Given the description of an element on the screen output the (x, y) to click on. 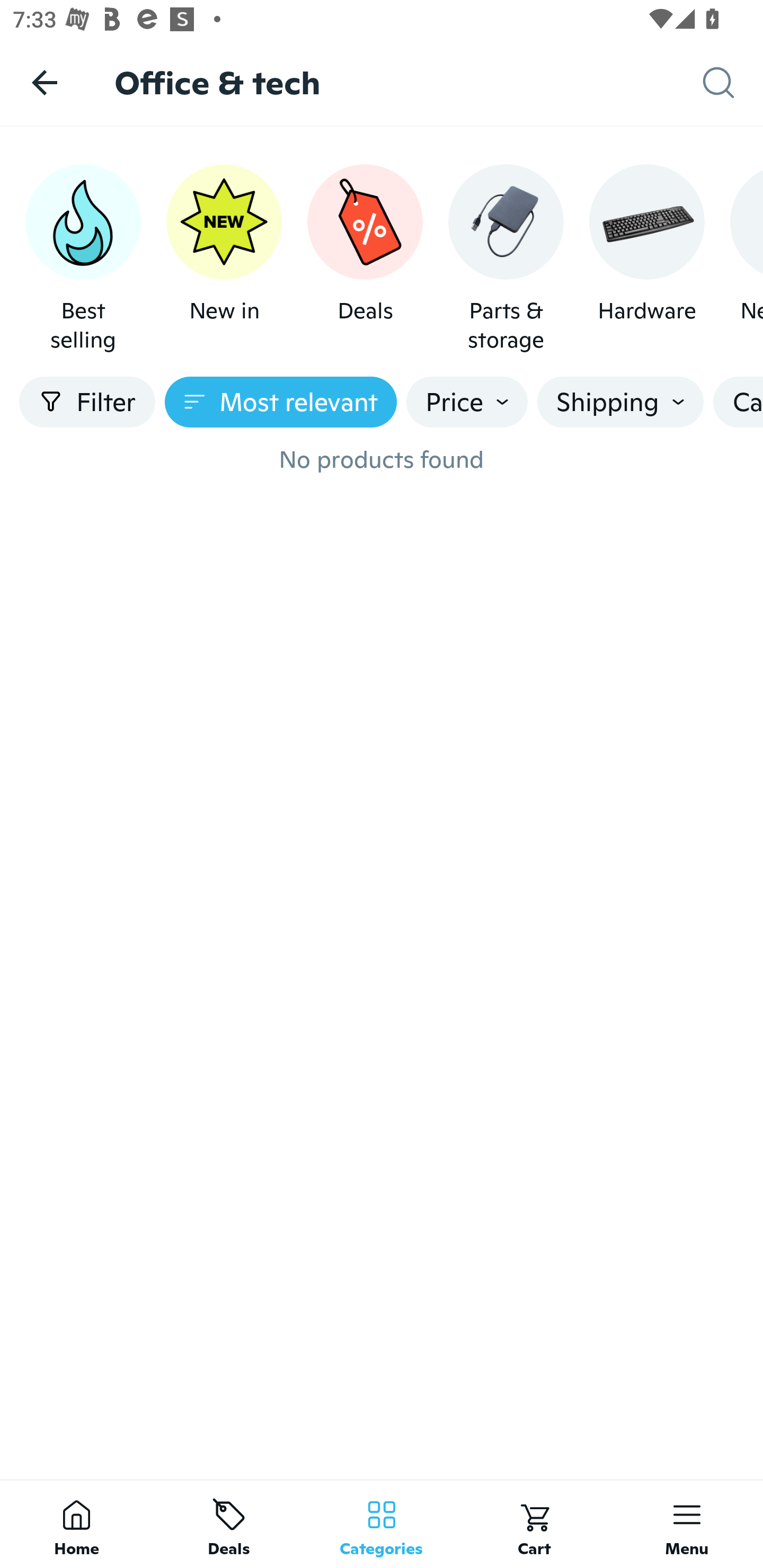
Navigate up (44, 82)
Search (732, 82)
Best selling (83, 259)
New in (223, 259)
Deals (364, 259)
Parts & storage (505, 259)
Hardware (647, 259)
Filter (86, 402)
Most relevant (280, 402)
Price (466, 402)
Shipping (620, 402)
Home (76, 1523)
Deals (228, 1523)
Categories (381, 1523)
Cart (533, 1523)
Menu (686, 1523)
